Given the description of an element on the screen output the (x, y) to click on. 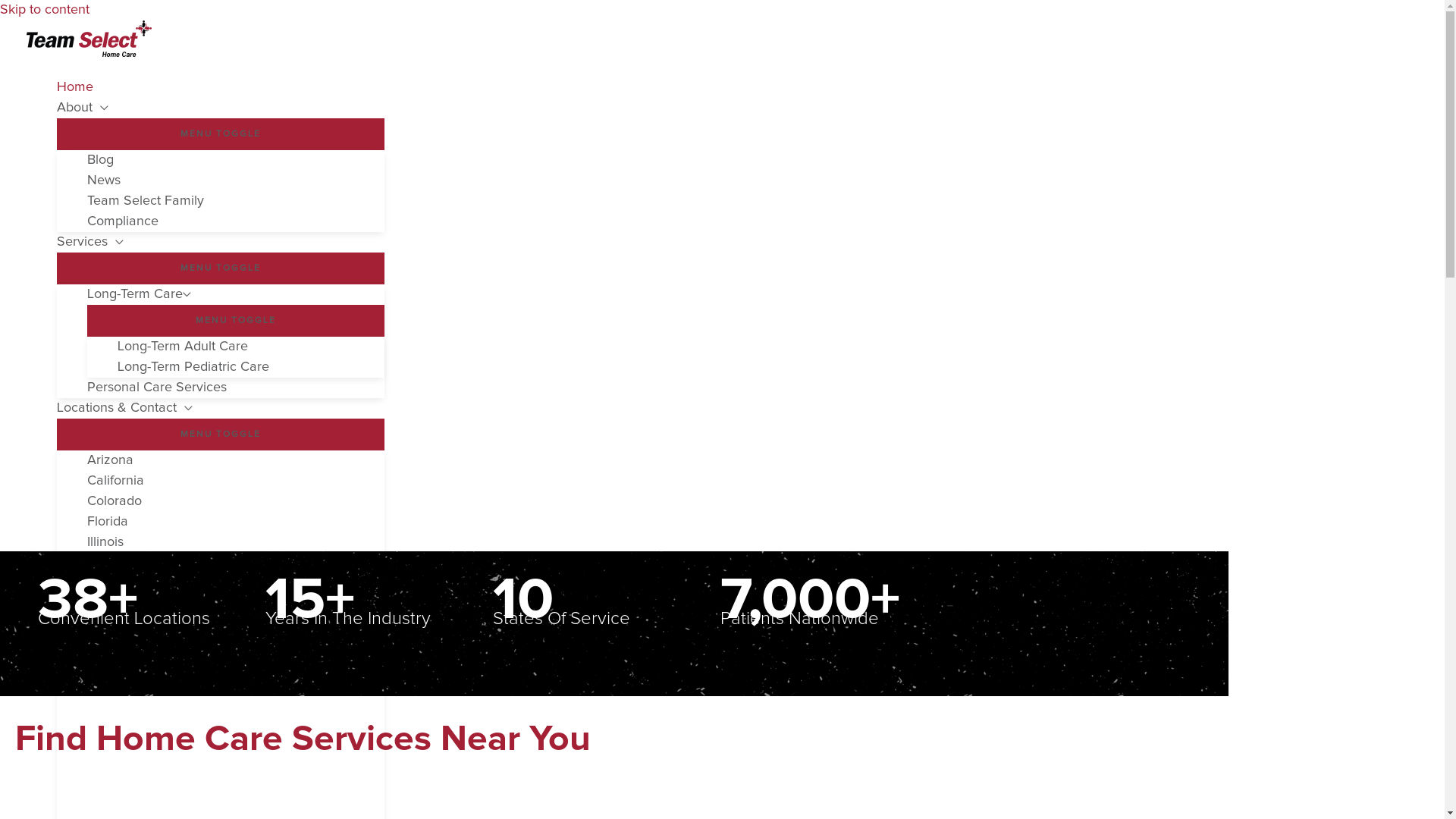
News Element type: text (235, 180)
Compliance Element type: text (235, 221)
MENU TOGGLE Element type: text (220, 268)
New Hampshire Element type: text (235, 603)
Florida Element type: text (235, 521)
Long-Term Pediatric Care Element type: text (250, 367)
Arizona Element type: text (235, 460)
Team Select Family Element type: text (235, 201)
LEARN MORE Element type: text (470, 194)
MENU TOGGLE Element type: text (220, 434)
Services Element type: text (220, 242)
Texas Element type: text (235, 644)
Colorado Element type: text (235, 501)
Illinois Element type: text (235, 542)
MENU TOGGLE Element type: text (235, 320)
MENU TOGGLE Element type: text (220, 134)
Indiana Element type: text (235, 562)
Missouri Element type: text (235, 583)
Home Element type: text (220, 87)
Personal Care Services Element type: text (235, 387)
California Element type: text (235, 480)
Pennsylvania Element type: text (235, 624)
Long-Term Adult Care Element type: text (250, 346)
Long-Term Care Element type: text (235, 294)
About Element type: text (220, 107)
Blog Element type: text (235, 160)
Locations & Contact Element type: text (220, 408)
Skip to content Element type: text (44, 9)
